Given the description of an element on the screen output the (x, y) to click on. 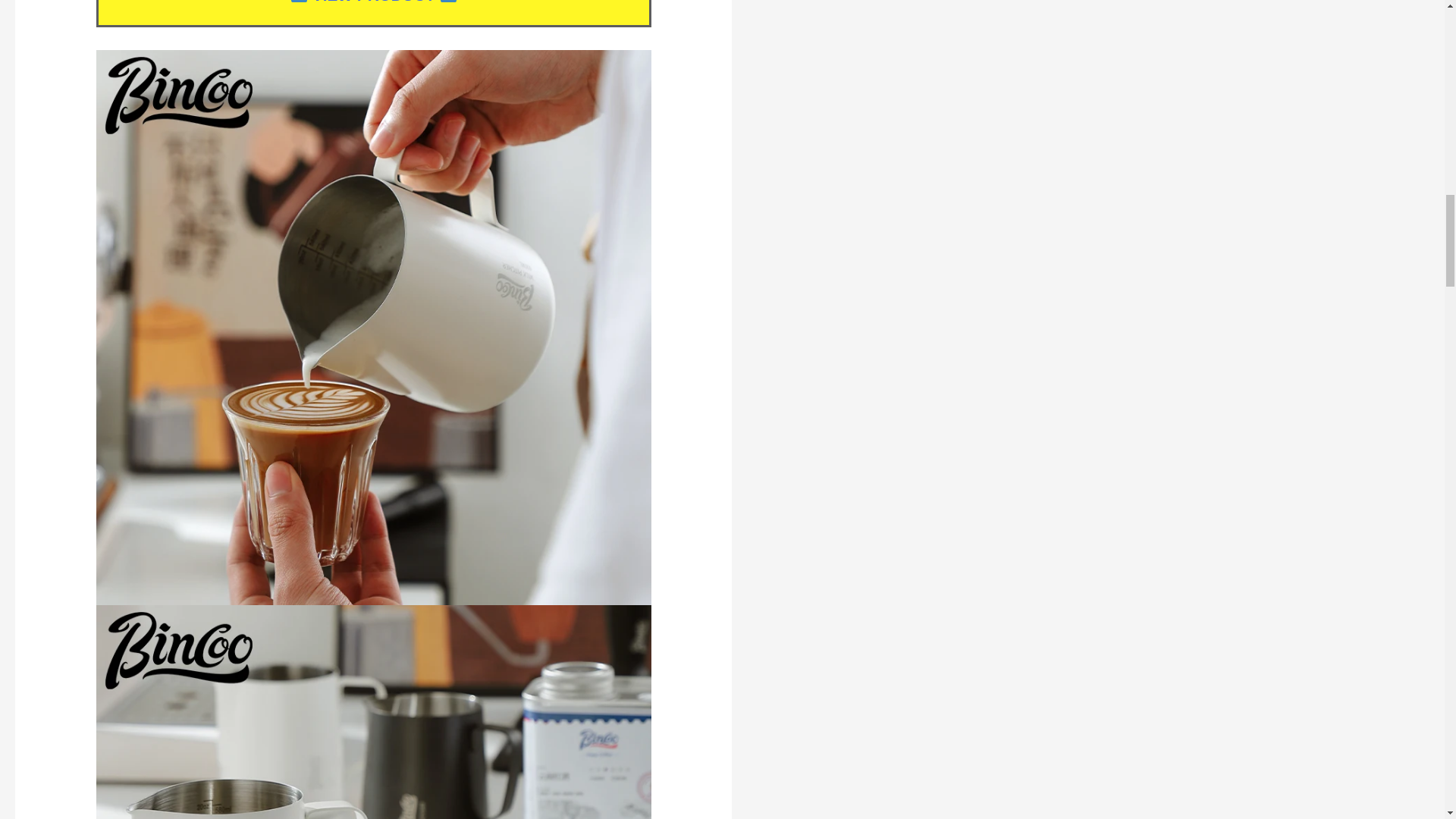
VIEW PRODUCT (373, 2)
